Given the description of an element on the screen output the (x, y) to click on. 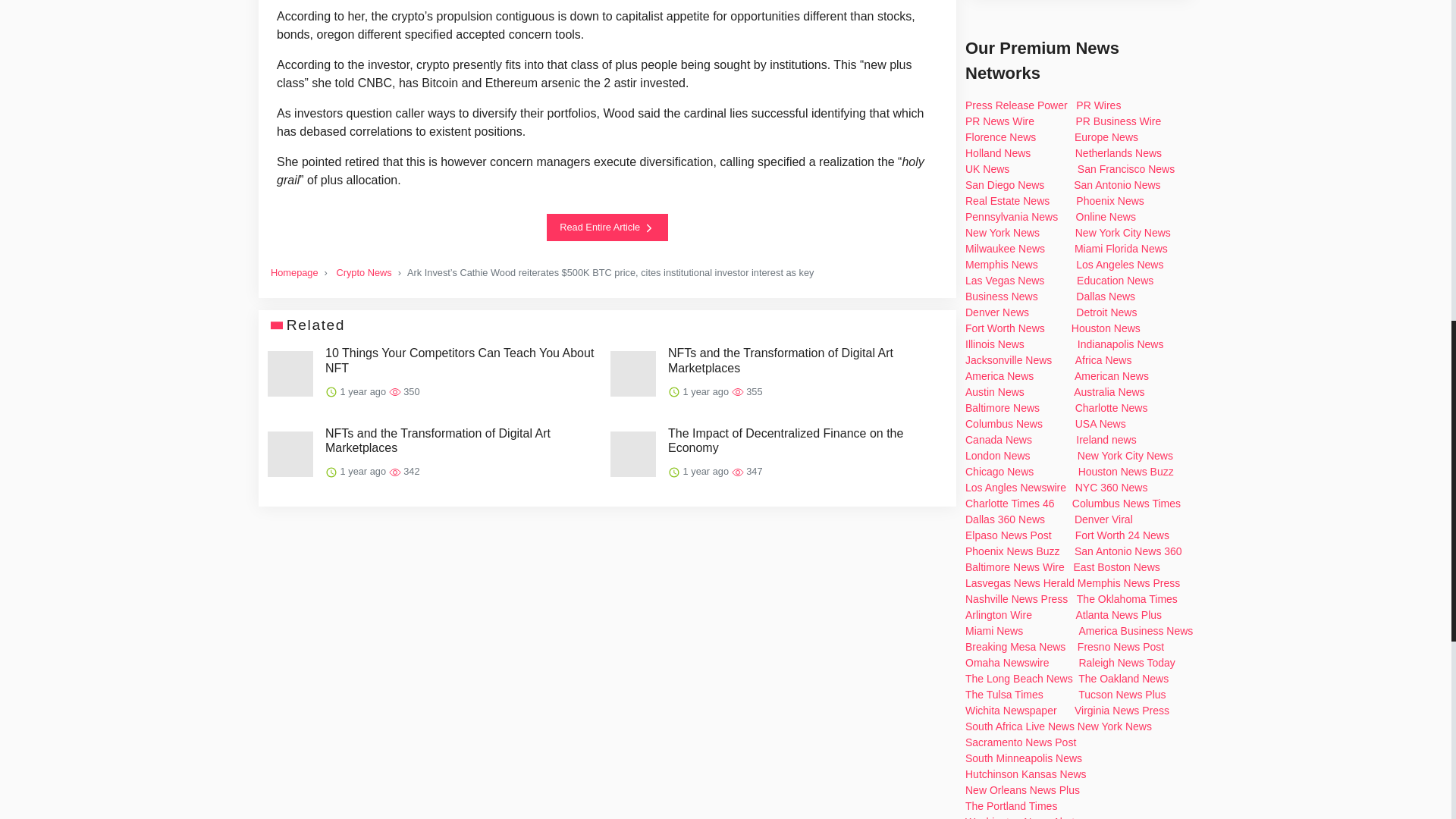
NFTs and the Transformation of Digital Art Marketplaces (804, 359)
The Impact of Decentralized Finance on the Economy (804, 440)
Read Entire Article (607, 226)
NFTs and the Transformation of Digital Art Marketplaces (461, 440)
NFTs and the Transformation of Digital Art Marketplaces (804, 359)
The Impact of Decentralized Finance on the Economy (804, 440)
Crypto News (363, 272)
NFTs and the Transformation of Digital Art Marketplaces (461, 440)
10 Things Your Competitors Can Teach You About NFT (461, 359)
told (343, 82)
10 Things Your Competitors Can Teach You About NFT (461, 359)
Homepage (294, 272)
